Given the description of an element on the screen output the (x, y) to click on. 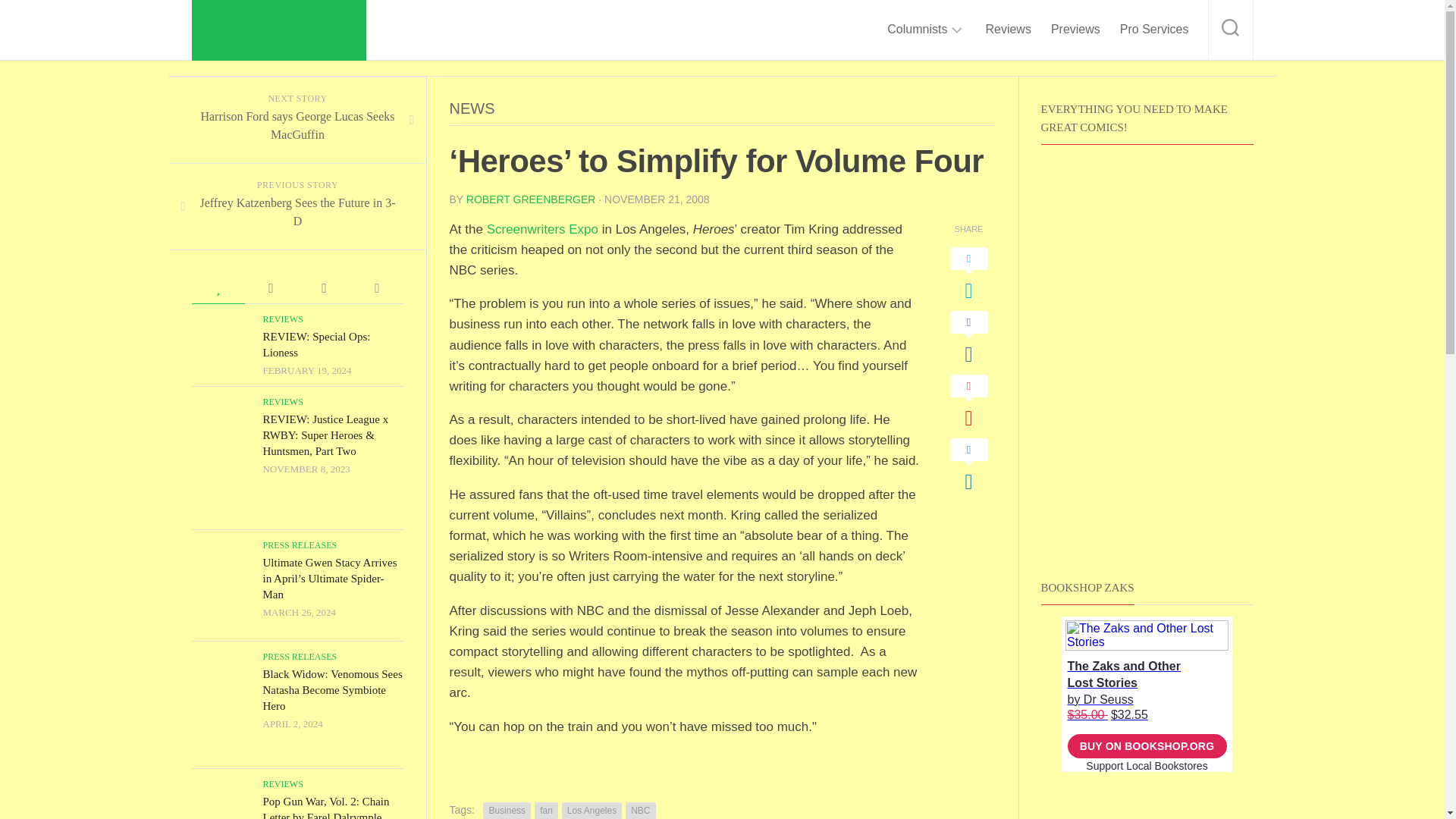
Posts by Robert Greenberger (530, 199)
Business (507, 810)
Screenwriters Expo (542, 228)
Tags (376, 287)
Popular Posts (217, 287)
Los Angeles (591, 810)
fan (545, 810)
NEWS (471, 108)
Recent Posts (323, 287)
Pro Services (1154, 29)
Columnists (916, 29)
NBC (640, 810)
ROBERT GREENBERGER (530, 199)
Recent Comments (270, 287)
Reviews (1007, 29)
